Given the description of an element on the screen output the (x, y) to click on. 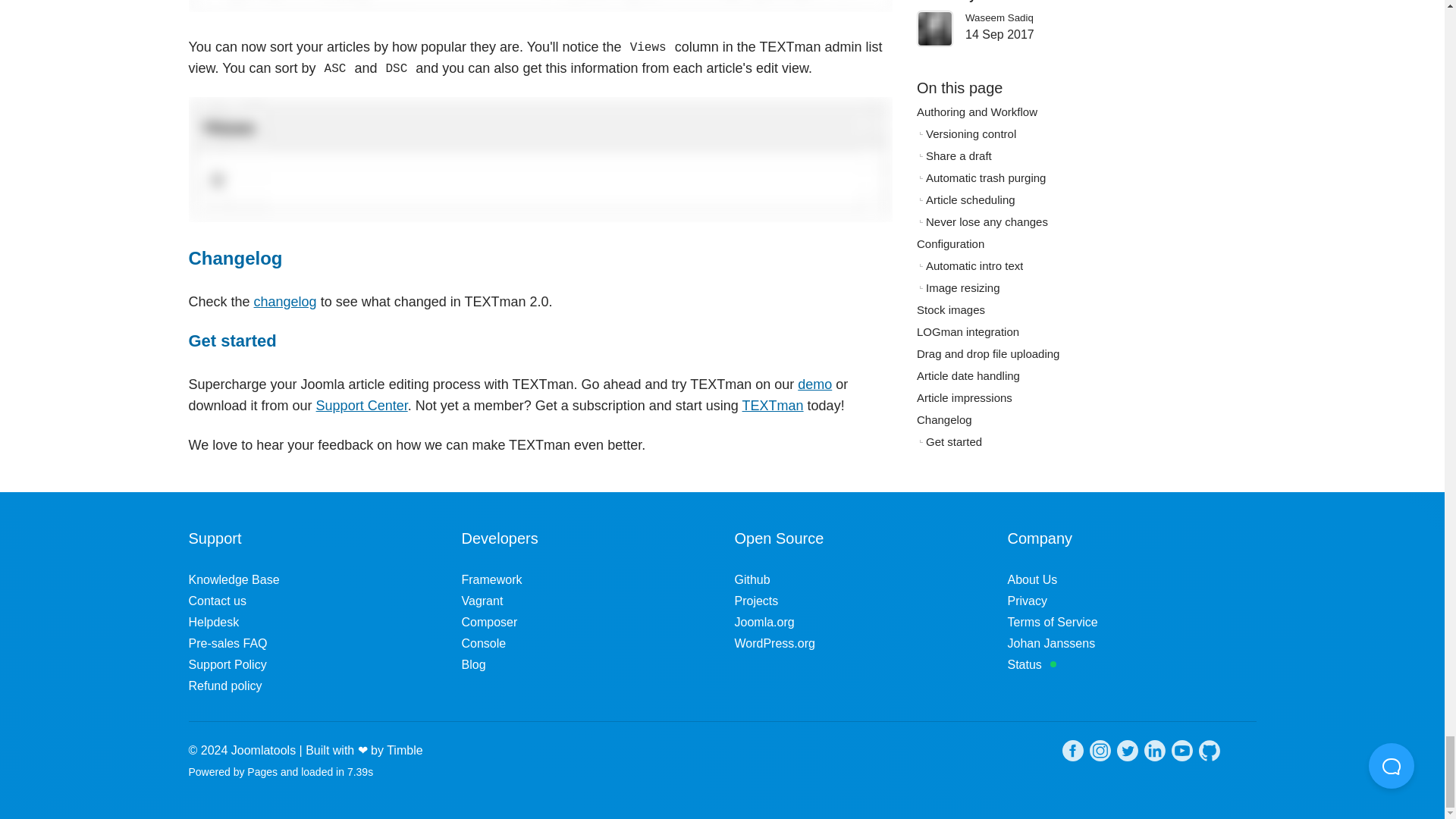
Follow Joomlatools on Facebook (1072, 753)
Changelog (234, 258)
changelog (285, 301)
Follow Joomlatools on Twitter (1126, 753)
Follow Joomlatools on Instagram (1099, 753)
Get started (231, 340)
